Given the description of an element on the screen output the (x, y) to click on. 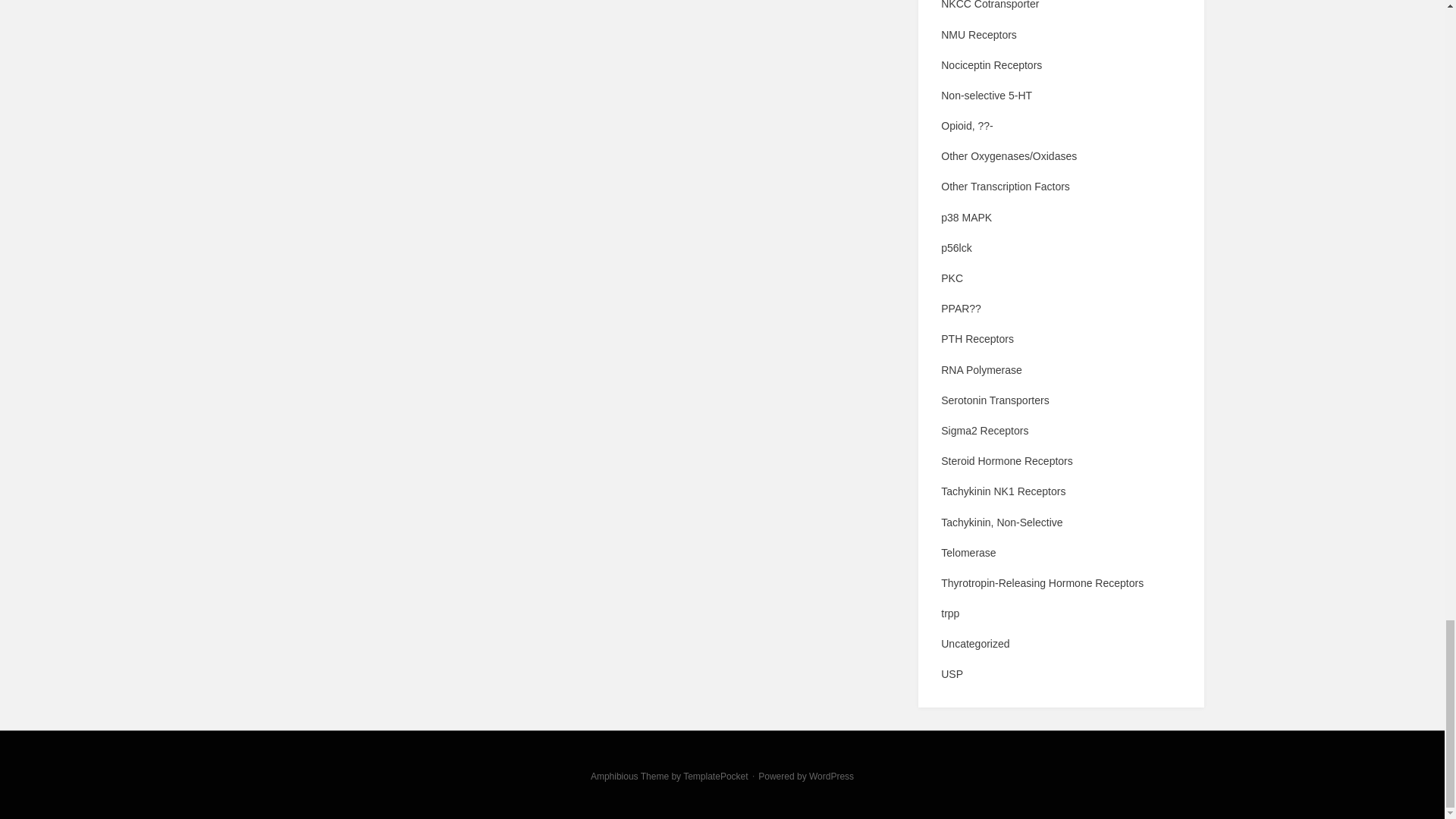
WordPress (831, 776)
TemplatePocket (715, 776)
